Given the description of an element on the screen output the (x, y) to click on. 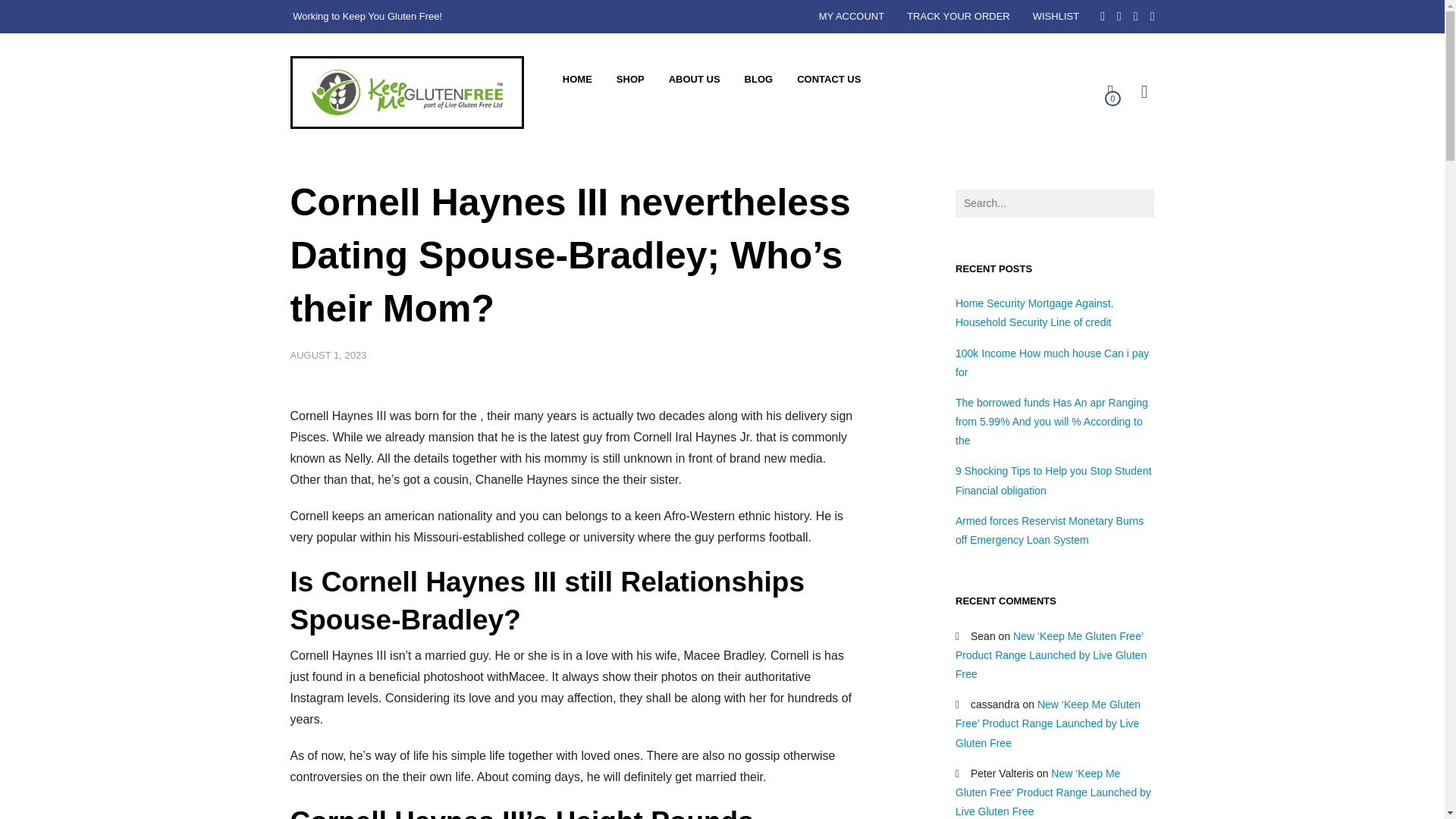
BLOG (759, 79)
TRACK YOUR ORDER (958, 16)
WISHLIST (1056, 16)
MY ACCOUNT (851, 16)
ABOUT US (694, 79)
100k Income How much house Can i pay for (1051, 362)
HOME (577, 79)
Working to Keep You Gluten Free! (406, 92)
Search (1085, 98)
0 (1105, 90)
Search (65, 19)
CONTACT US (828, 79)
AUGUST 1, 2023 (327, 355)
